Given the description of an element on the screen output the (x, y) to click on. 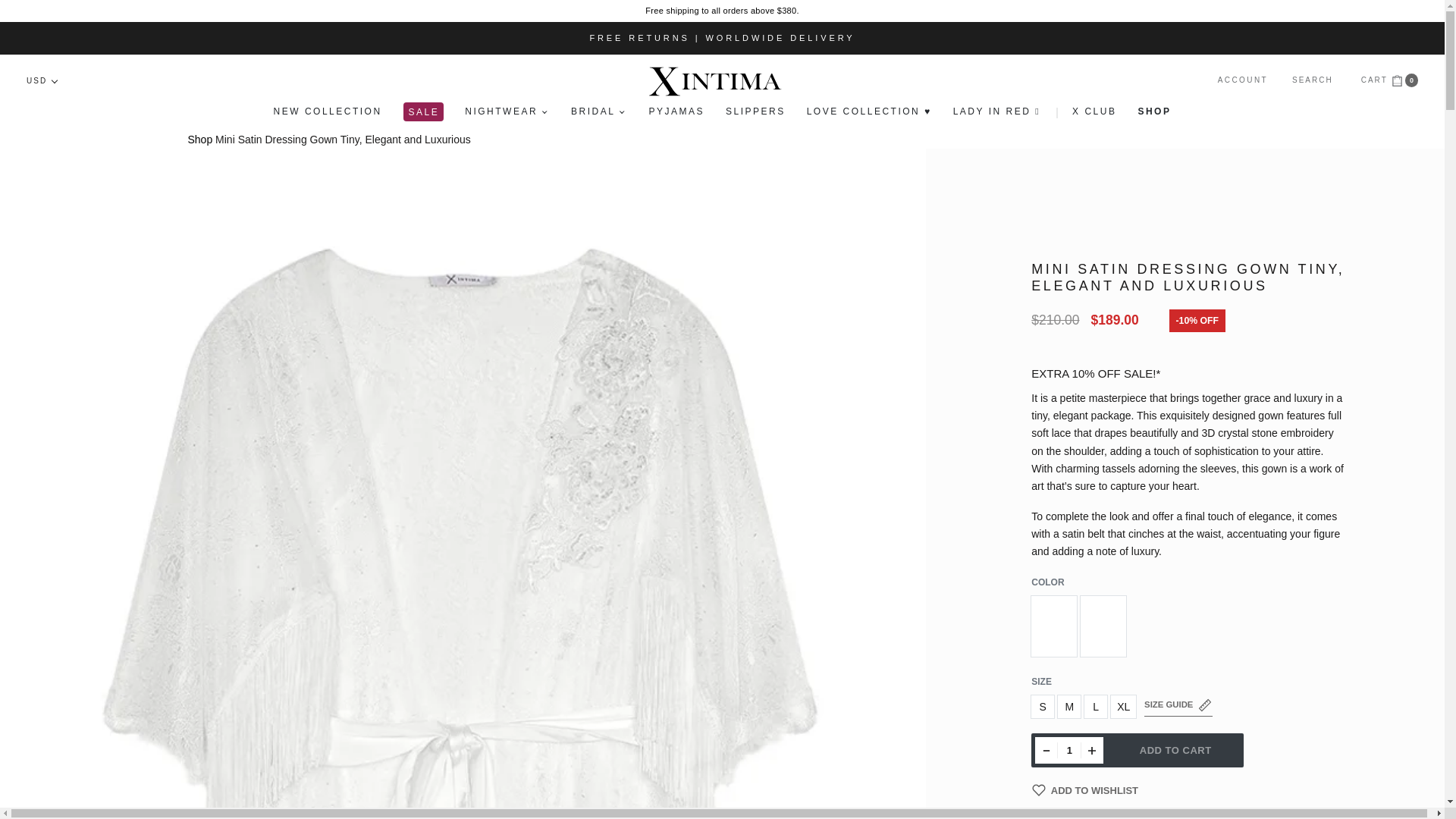
1 (1068, 750)
PYJAMAS (675, 111)
SALE (424, 112)
Add to wishlist (1084, 789)
NIGHTWEAR (507, 111)
BRIDAL (598, 111)
NEW COLLECTION (327, 111)
X CLUB (1093, 111)
SLIPPERS (755, 111)
